Given the description of an element on the screen output the (x, y) to click on. 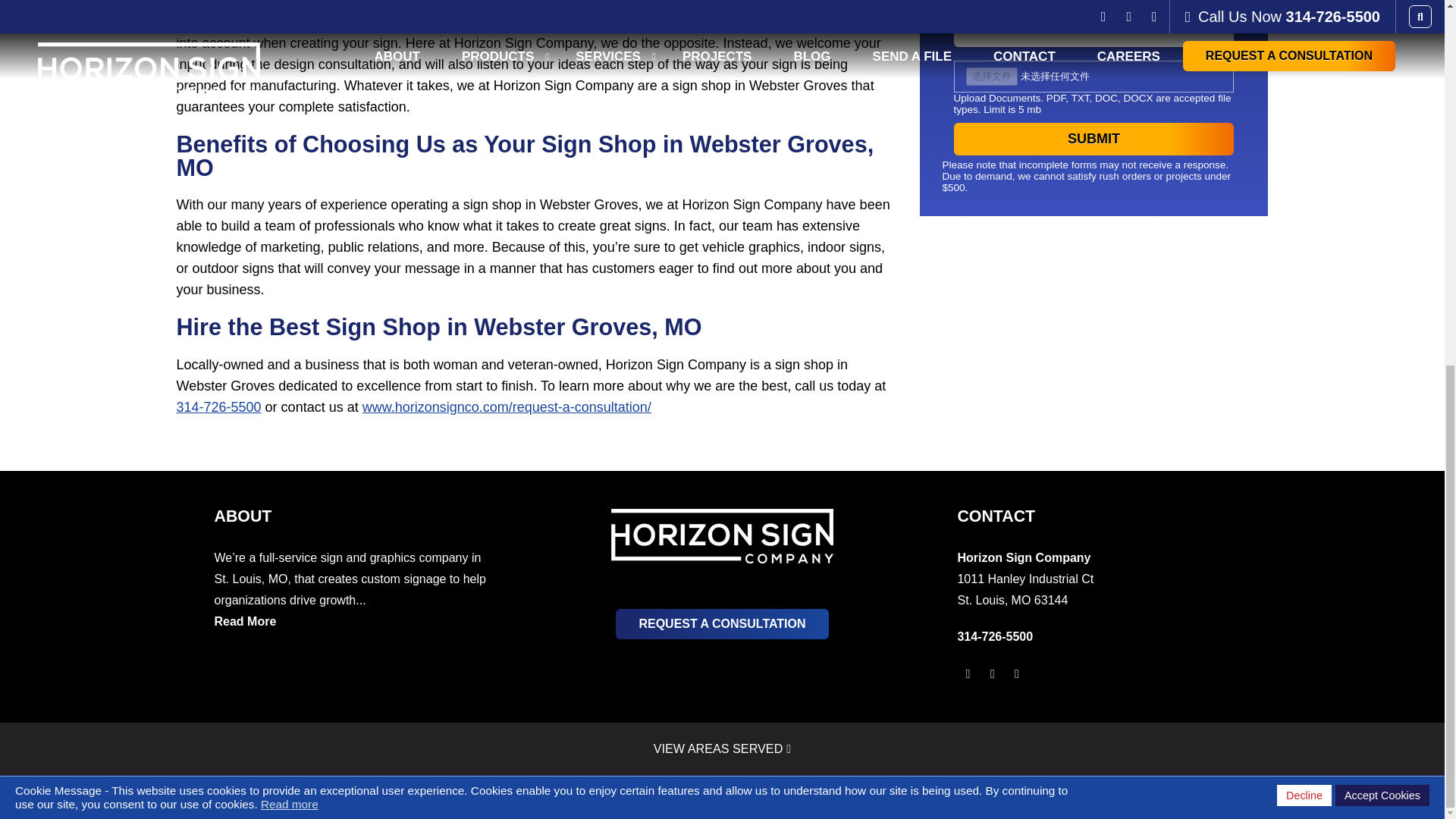
Decline (1304, 138)
Read more (289, 147)
Accept Cookies (1382, 138)
Submit (1093, 138)
